Given the description of an element on the screen output the (x, y) to click on. 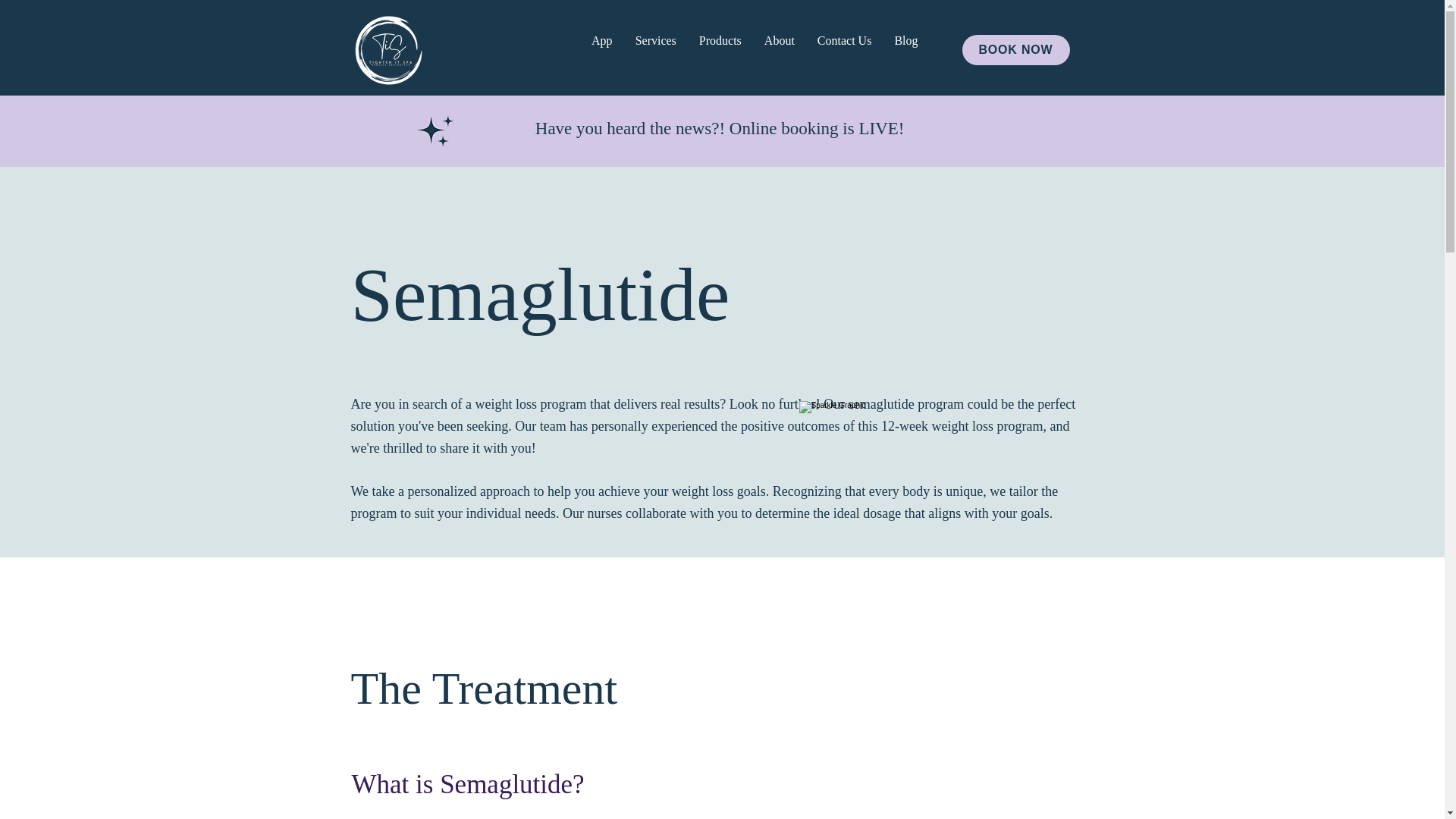
Contact Us (844, 49)
BOOK NOW (1014, 50)
Logo TiS alone in circle.png (387, 50)
App (601, 49)
About (779, 49)
Products (719, 49)
Services (655, 49)
Blog (905, 49)
